Given the description of an element on the screen output the (x, y) to click on. 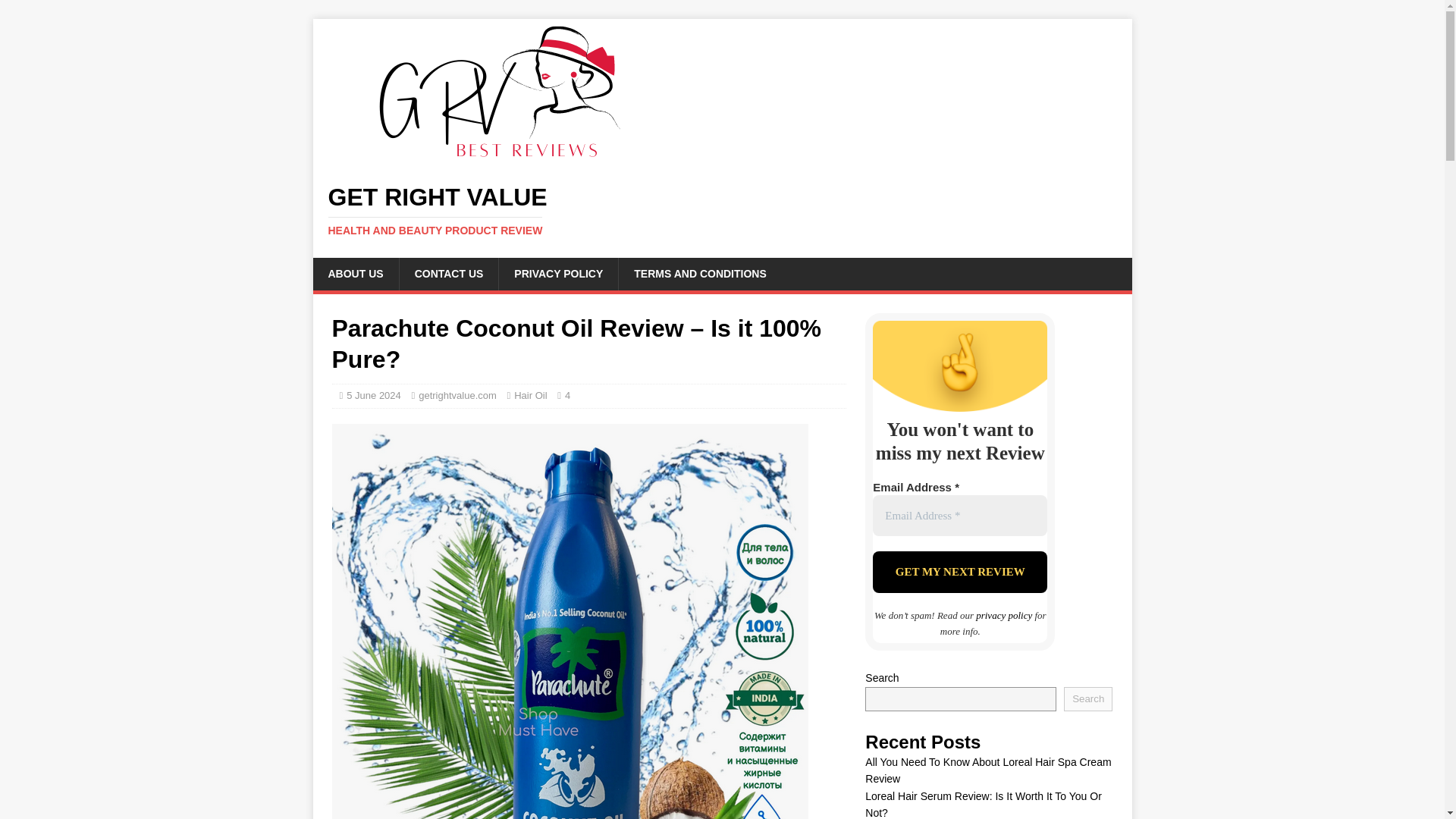
TERMS AND CONDITIONS (698, 273)
Get Right Value (721, 210)
CONTACT US (448, 273)
PRIVACY POLICY (557, 273)
ABOUT US (355, 273)
Hair Oil (530, 395)
GET MY NEXT REVIEW (721, 210)
getrightvalue.com (959, 571)
Email Address (457, 395)
